Given the description of an element on the screen output the (x, y) to click on. 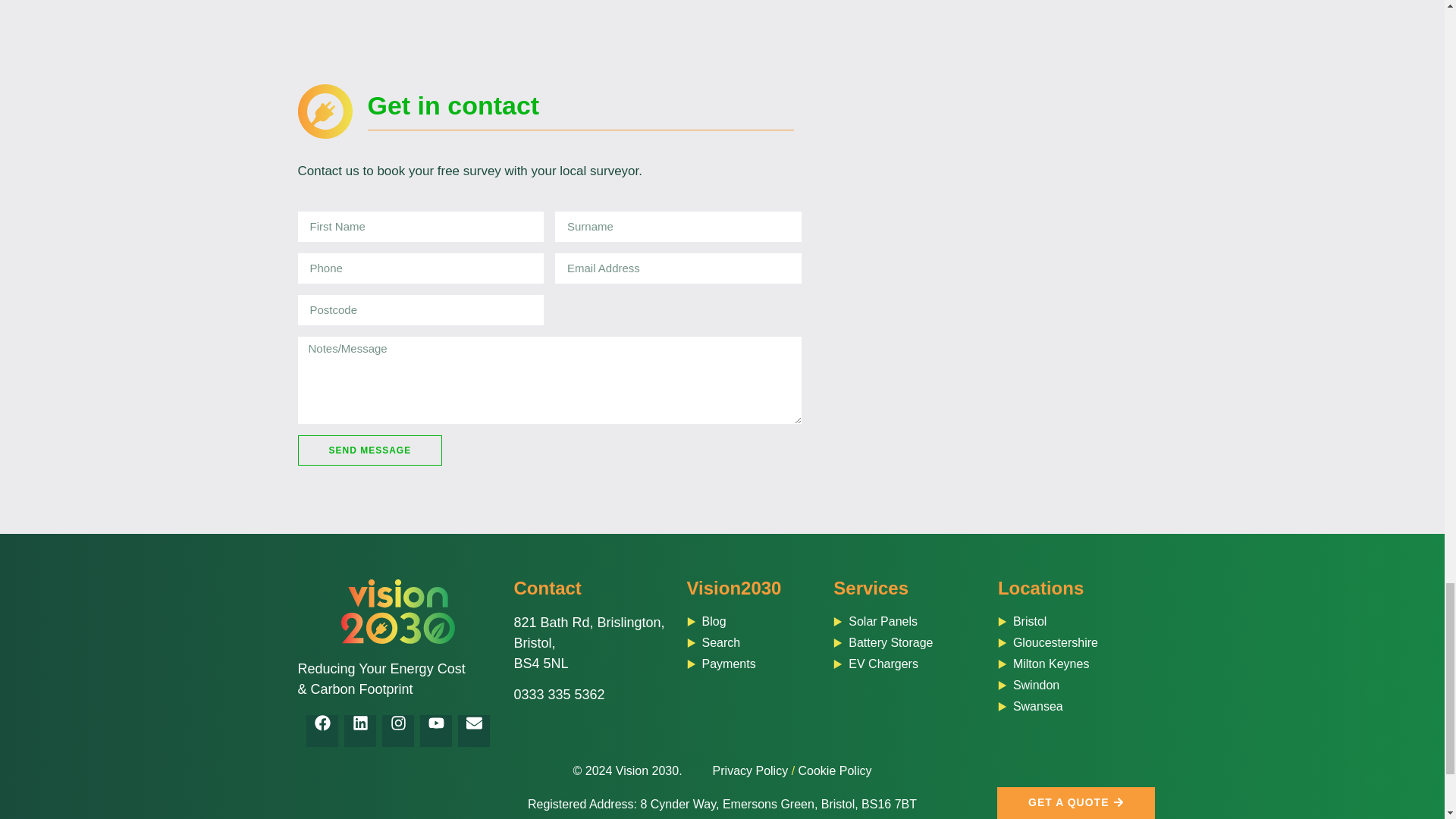
SEND MESSAGE (369, 450)
